Given the description of an element on the screen output the (x, y) to click on. 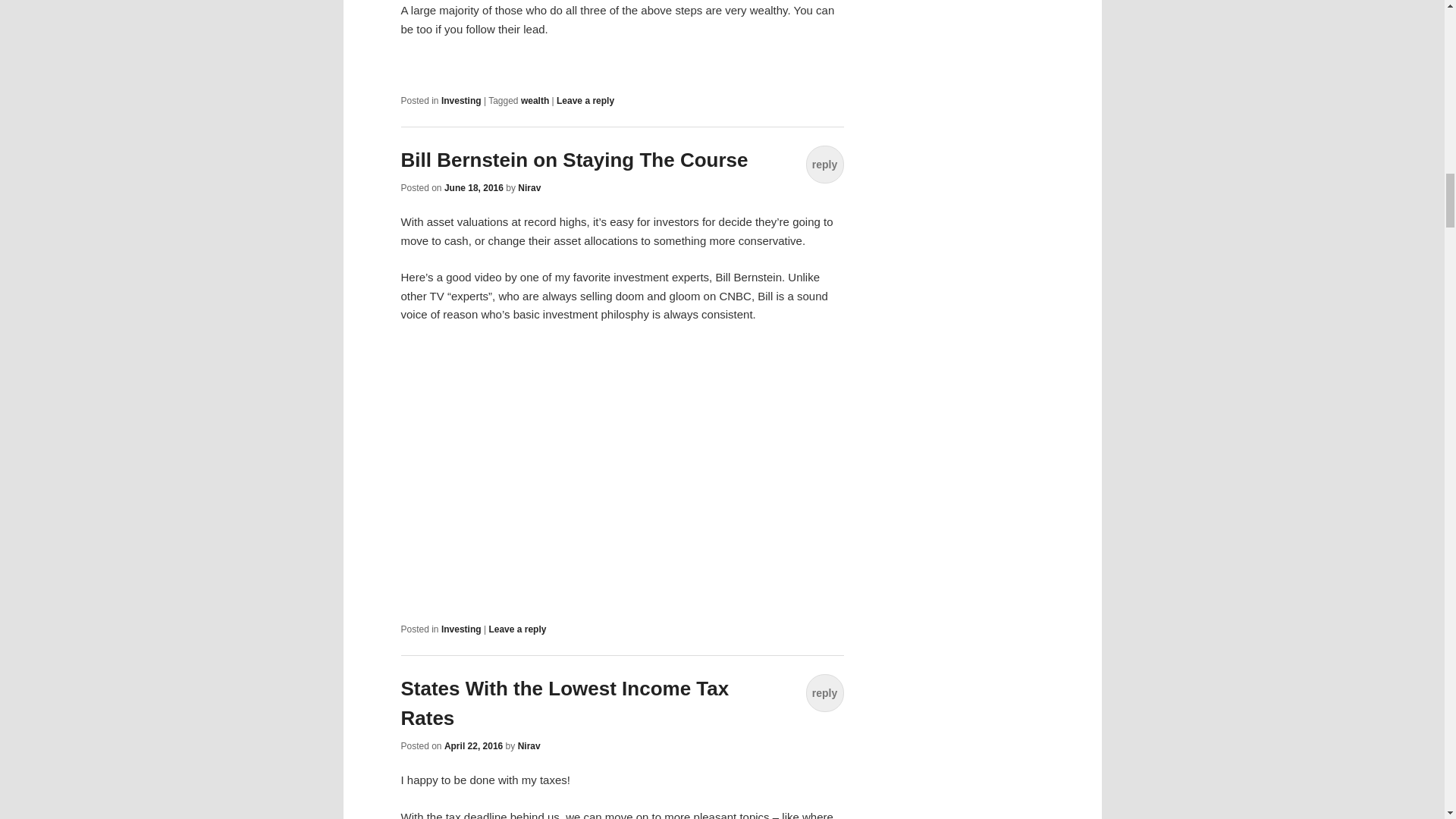
Investing (461, 629)
reply (824, 164)
Leave a reply (516, 629)
View all posts by Nirav (529, 746)
Nirav (529, 746)
Bill Bernstein on Staying The Course (574, 159)
reply (824, 692)
View all posts by Nirav (529, 187)
wealth (534, 100)
April 22, 2016 (473, 746)
